Given the description of an element on the screen output the (x, y) to click on. 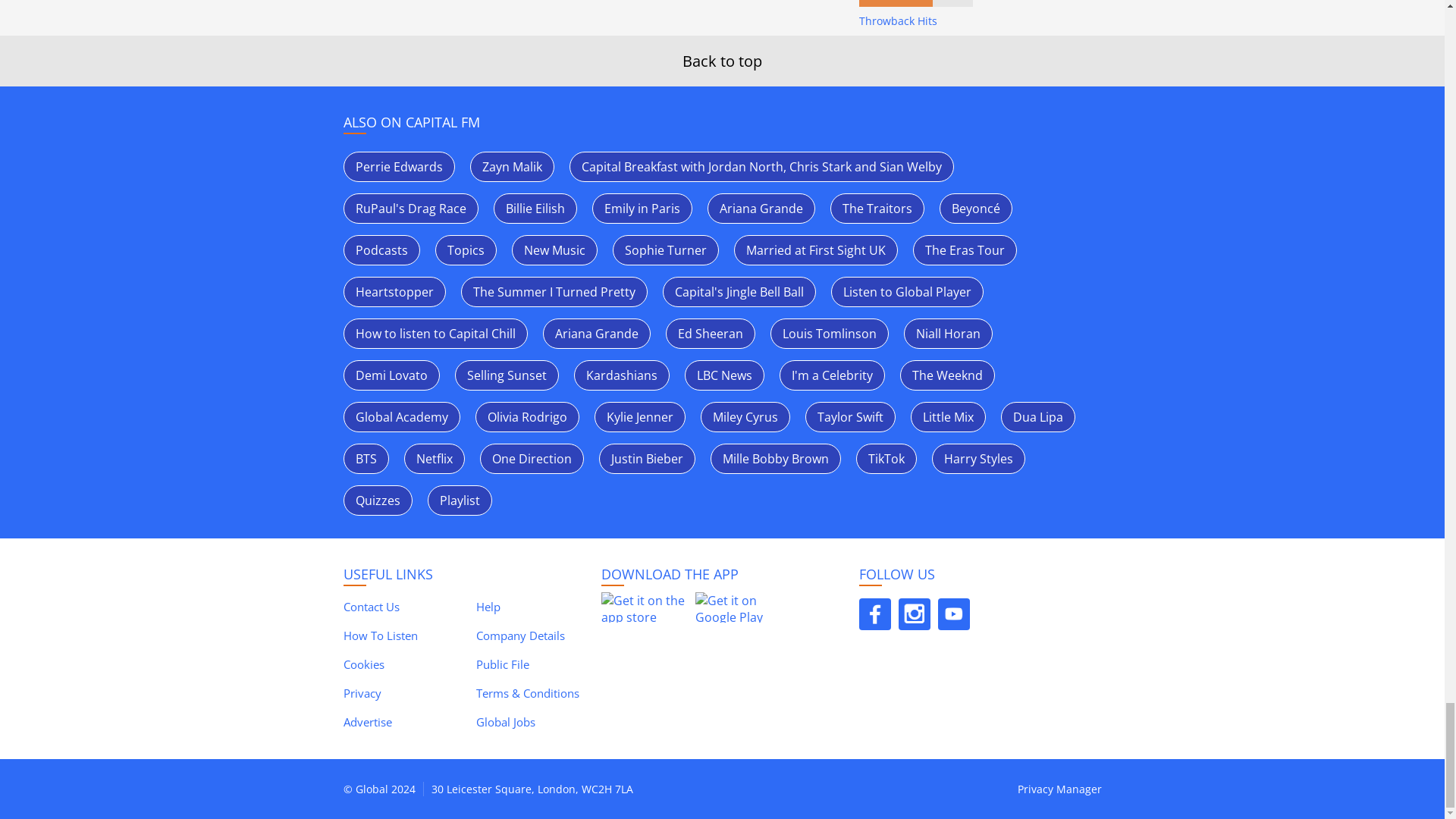
Follow Capital on Youtube (953, 613)
Follow Capital on Instagram (914, 613)
Follow Capital on Facebook (874, 613)
Back to top (721, 60)
